Given the description of an element on the screen output the (x, y) to click on. 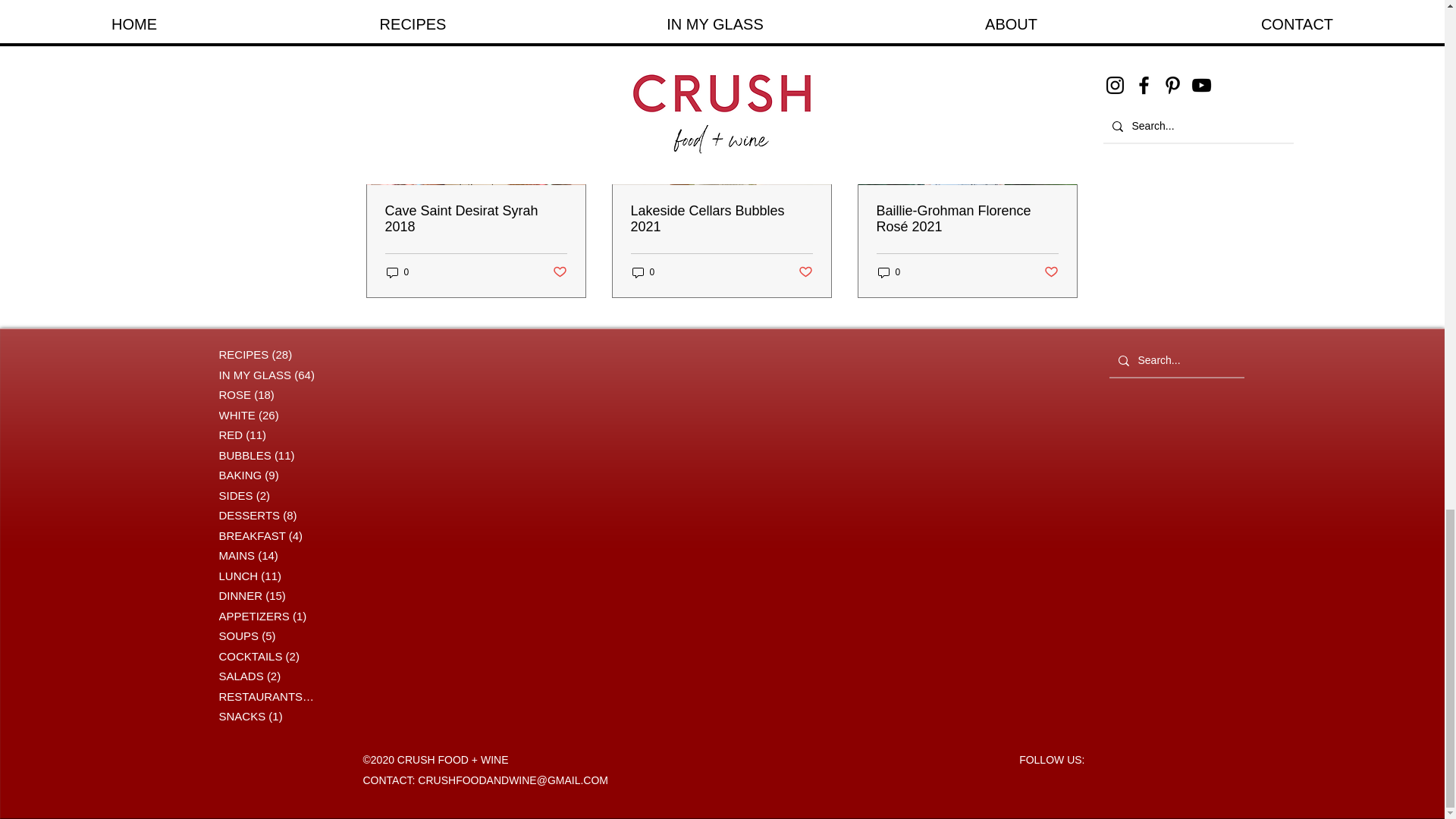
Cave Saint Desirat Syrah 2018 (476, 219)
Post not marked as liked (558, 271)
0 (643, 272)
0 (397, 272)
Lakeside Cellars Bubbles 2021 (721, 219)
See All (1061, 34)
Post not marked as liked (804, 271)
